Given the description of an element on the screen output the (x, y) to click on. 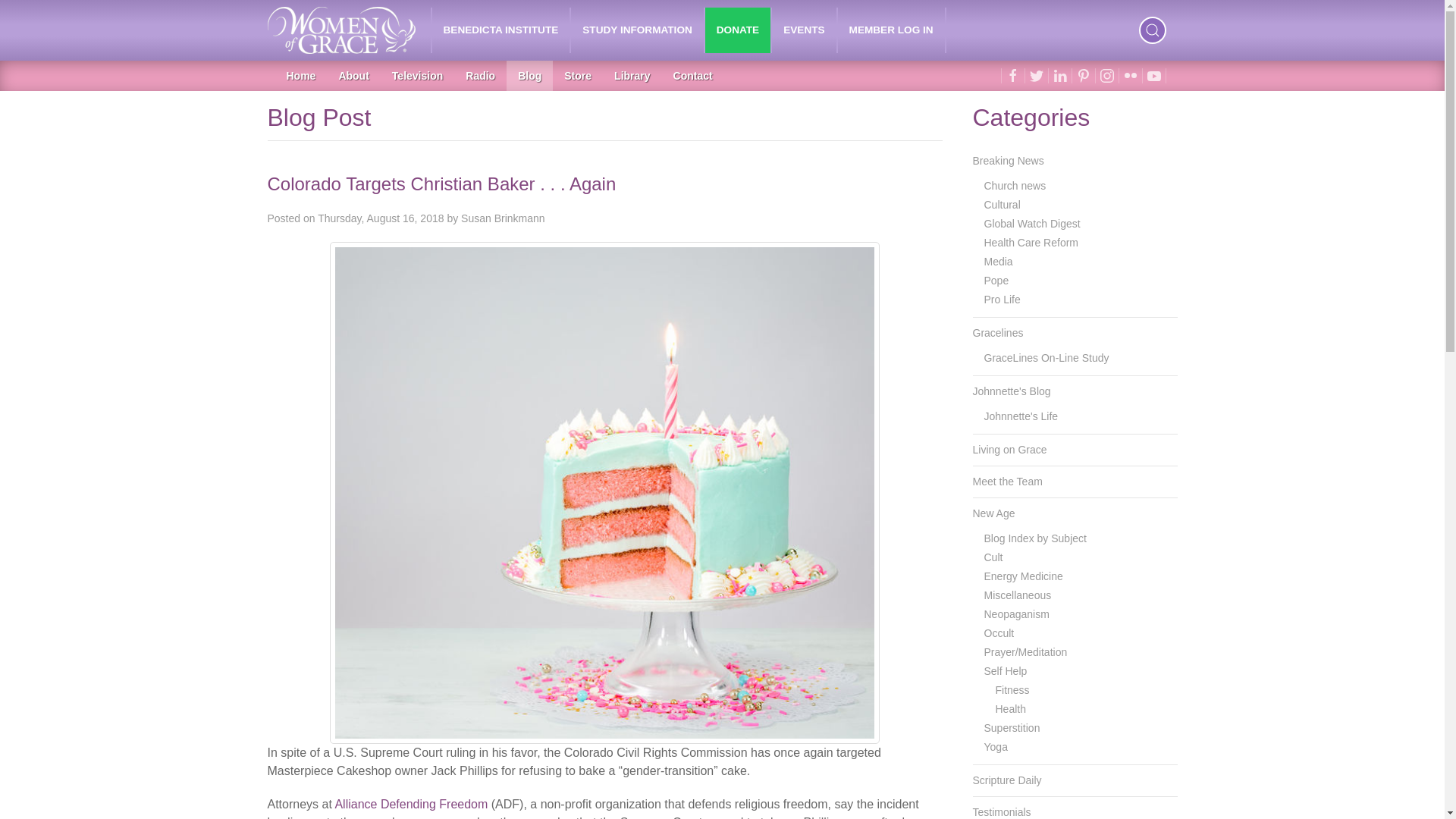
Blog (529, 75)
MEMBER LOG IN (891, 30)
View all posts by Susan Brinkmann (502, 218)
Breaking News (1074, 160)
Church news (1080, 185)
Global Watch Digest (1080, 223)
Health Care Reform (1080, 242)
10:05 am (380, 218)
Susan Brinkmann (502, 218)
BENEDICTA INSTITUTE (501, 30)
Television (417, 75)
About (353, 75)
Contact (692, 75)
Radio (480, 75)
Cultural (1080, 204)
